Given the description of an element on the screen output the (x, y) to click on. 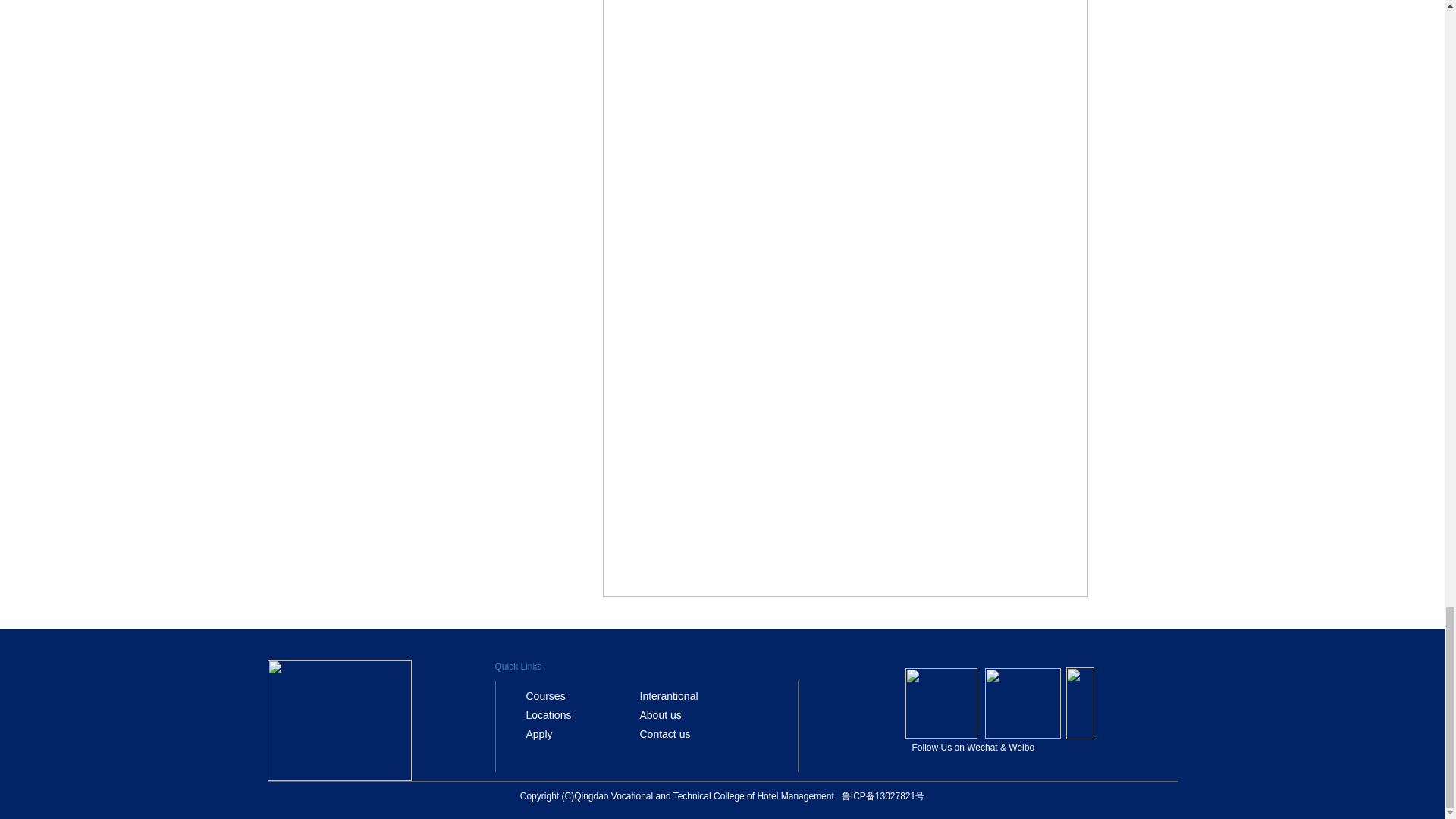
COURSES (545, 695)
INTERNATIONAL (669, 695)
ADMISSIONS (660, 715)
